Given the description of an element on the screen output the (x, y) to click on. 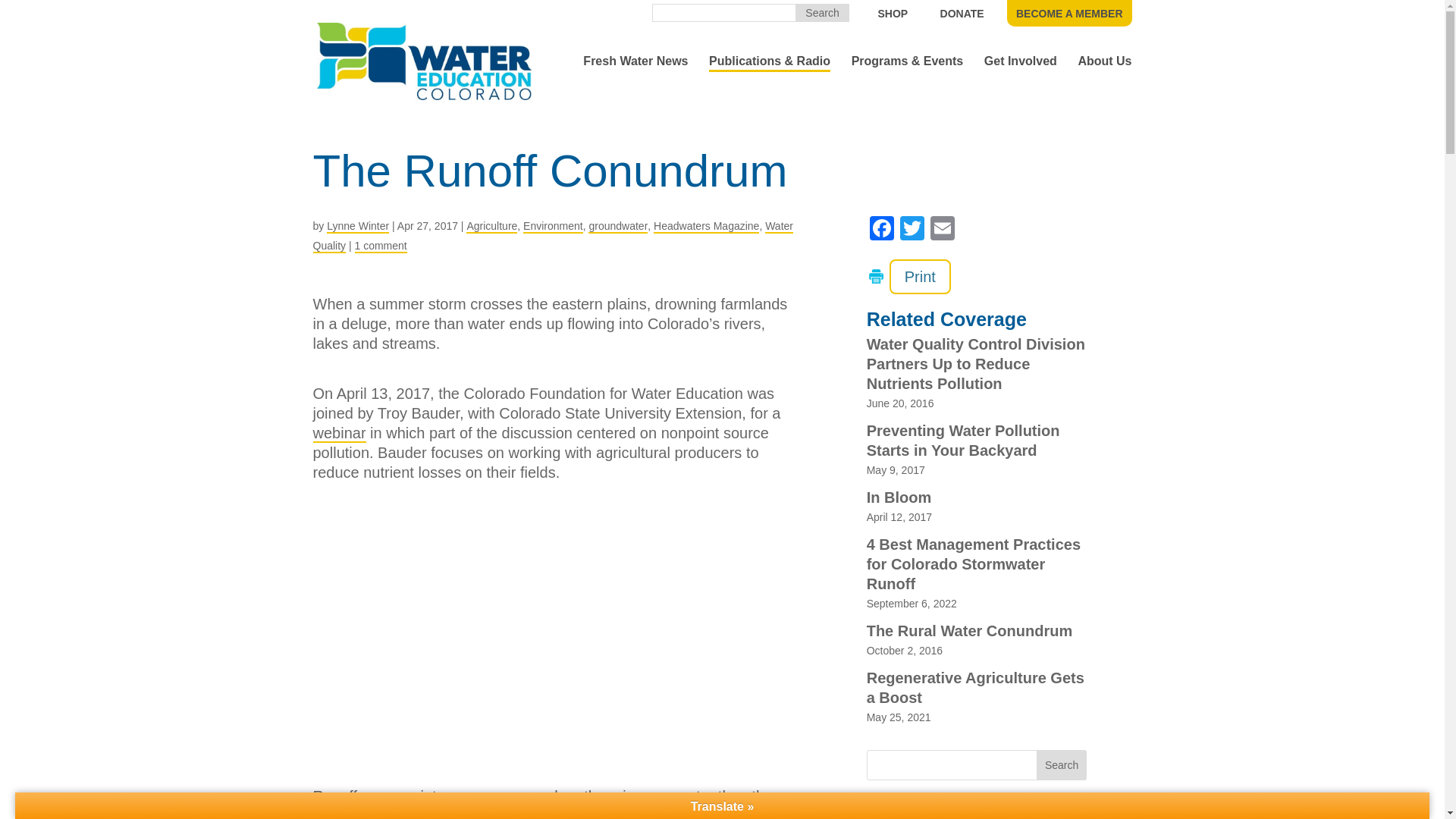
Get Involved (1020, 67)
Email (942, 230)
Search (822, 13)
BMPs for Colorado Ag (555, 649)
Search (822, 13)
BECOME A MEMBER (1069, 13)
SHOP (893, 13)
Twitter (911, 230)
Fresh Water News (635, 67)
Posts by Lynne Winter (357, 226)
DONATE (961, 13)
Facebook (881, 230)
Search (1061, 764)
About Us (1104, 67)
